Given the description of an element on the screen output the (x, y) to click on. 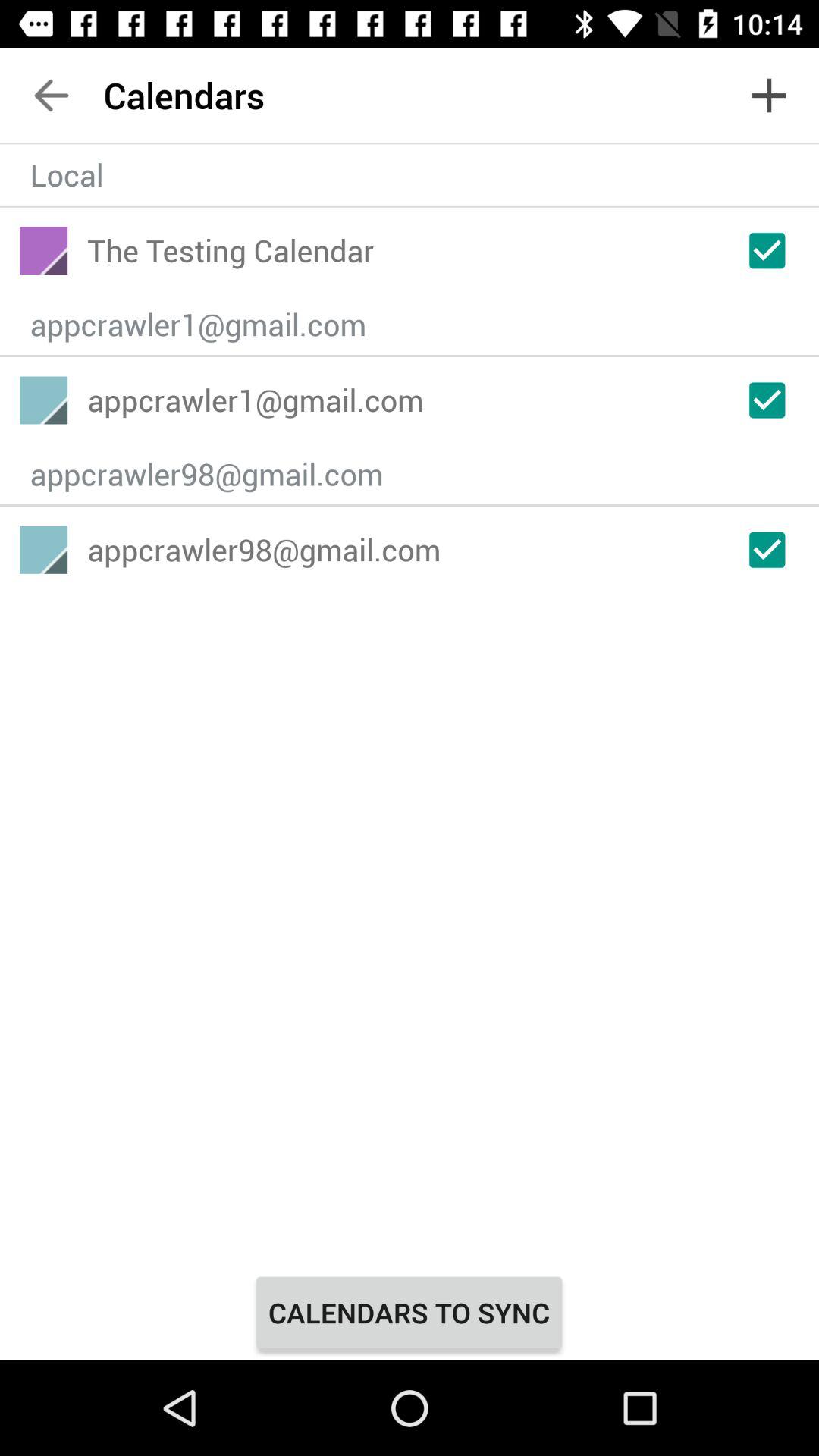
turn off the item below the appcrawler98@gmail.com icon (408, 1312)
